Given the description of an element on the screen output the (x, y) to click on. 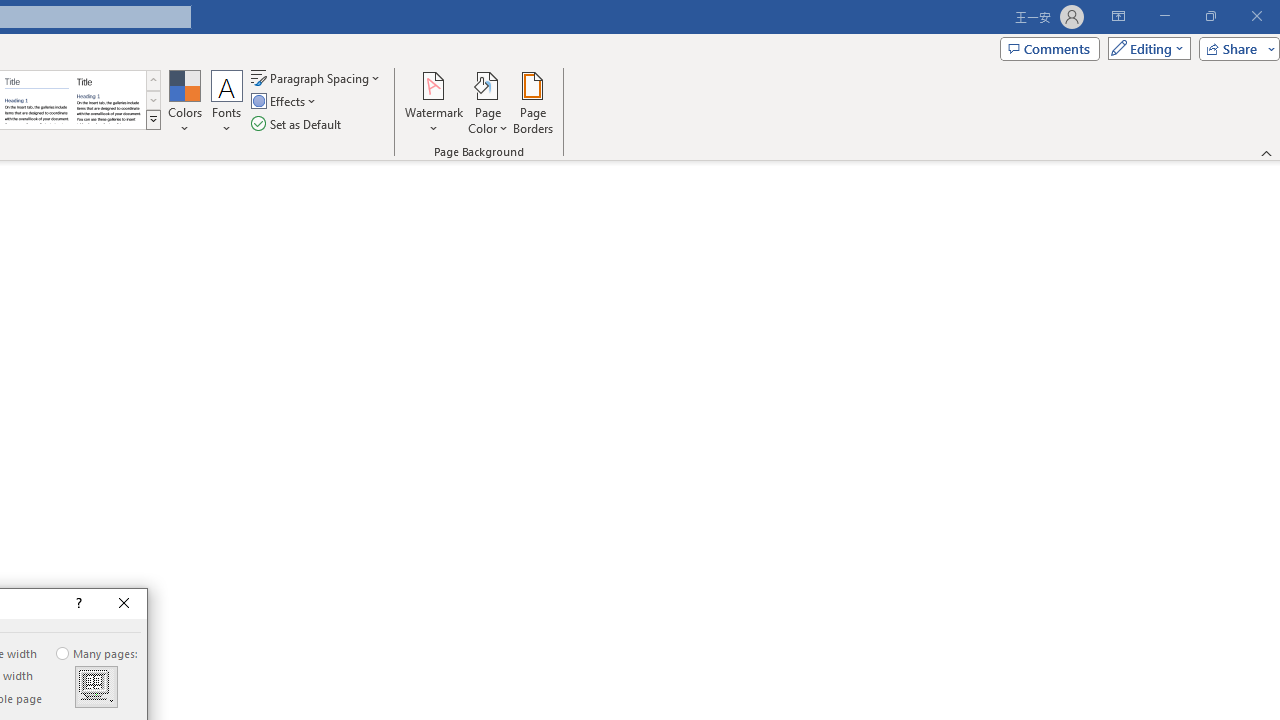
Context help (77, 603)
Effects (285, 101)
Watermark (434, 102)
Set as Default (298, 124)
Word 2013 (108, 100)
Page Borders... (532, 102)
Paragraph Spacing (317, 78)
Colors (184, 102)
